Given the description of an element on the screen output the (x, y) to click on. 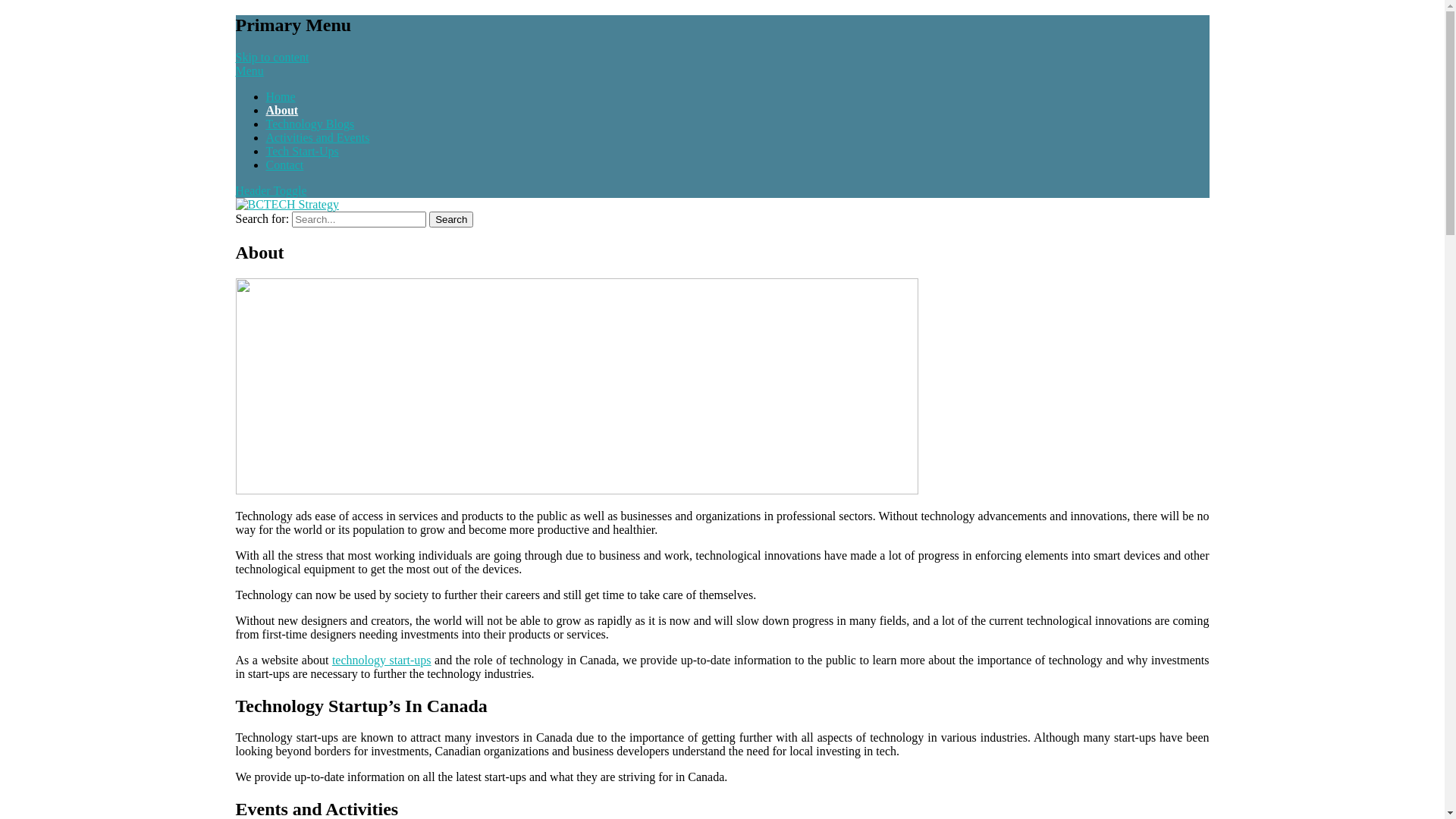
Header Toggle Element type: text (270, 190)
Contact Element type: text (284, 164)
Menu Element type: text (249, 70)
Home Element type: text (279, 96)
Tech Start-Ups Element type: text (301, 150)
technology start-ups Element type: text (381, 659)
Search Element type: text (451, 219)
Technology Blogs Element type: text (309, 123)
About Element type: text (281, 109)
Search for: Element type: hover (358, 219)
Skip to content Element type: text (271, 56)
Activities and Events Element type: text (317, 137)
